Given the description of an element on the screen output the (x, y) to click on. 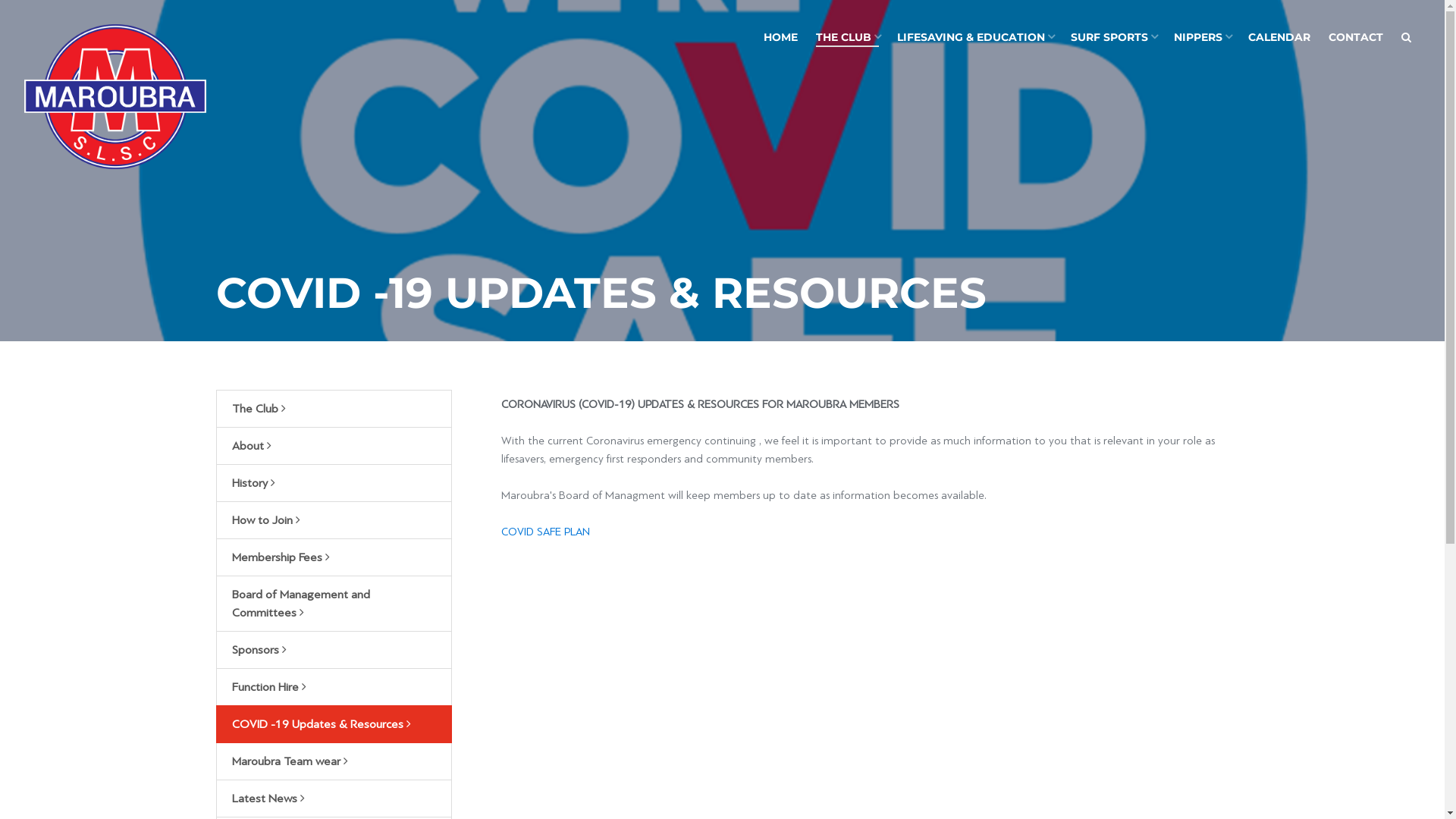
COVID -19 Updates & Resources  Element type: text (333, 724)
CONTACT Element type: text (1355, 37)
LIFESAVING & EDUCATION Element type: text (974, 37)
How to Join  Element type: text (333, 520)
Maroubra Team wear  Element type: text (333, 761)
HOME Element type: text (780, 37)
Latest News  Element type: text (333, 798)
Board of Management and Committees  Element type: text (333, 603)
SURF SPORTS Element type: text (1112, 37)
About  Element type: text (333, 445)
Search Element type: hover (1406, 37)
History  Element type: text (333, 483)
CALENDAR Element type: text (1279, 37)
Function Hire  Element type: text (333, 687)
The Club  Element type: text (333, 408)
NIPPERS Element type: text (1201, 37)
THE CLUB Element type: text (847, 38)
Membership Fees  Element type: text (333, 557)
COVID SAFE PLAN Element type: text (545, 531)
Sponsors  Element type: text (333, 649)
